Given the description of an element on the screen output the (x, y) to click on. 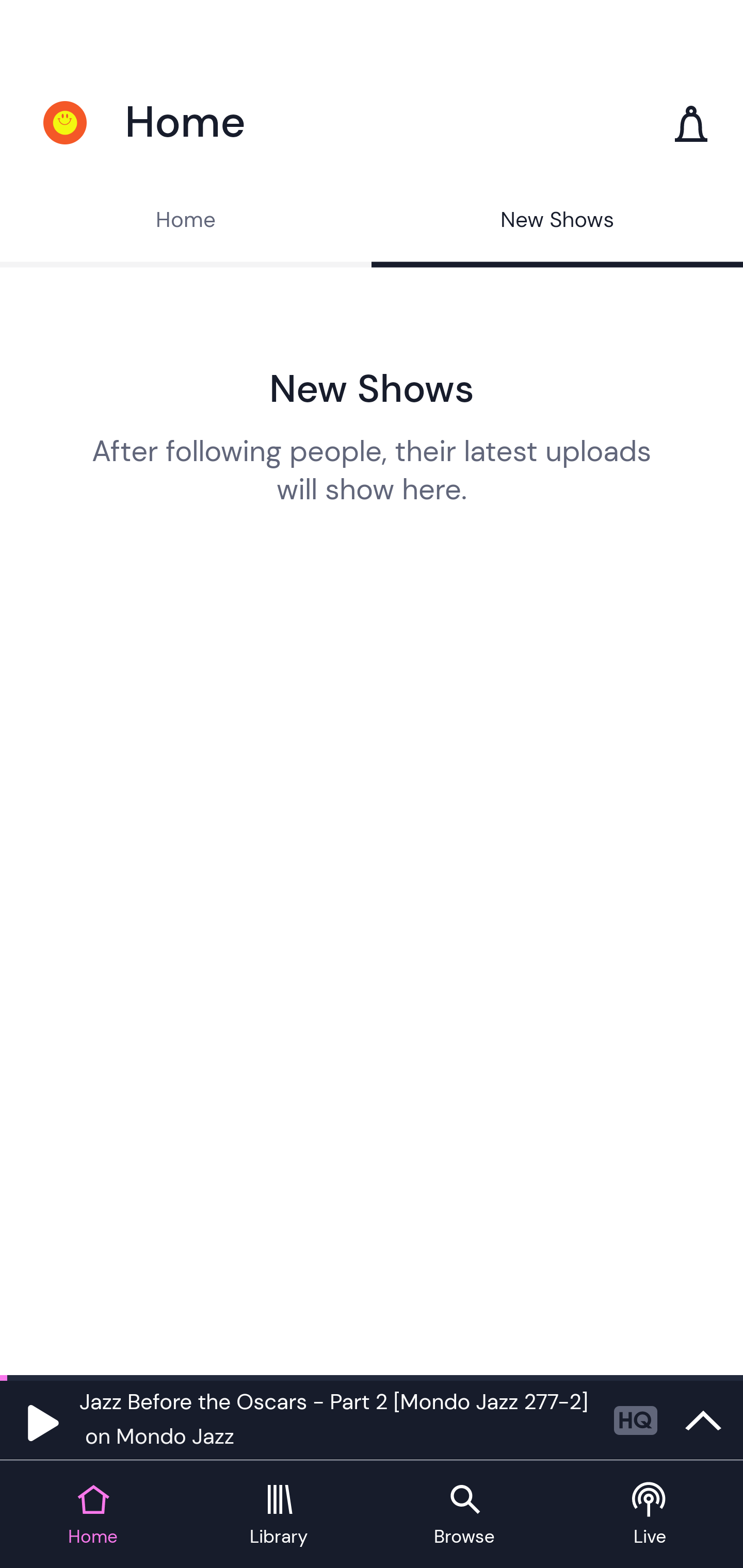
Home (185, 221)
New Shows (557, 221)
Home tab Home (92, 1515)
Library tab Library (278, 1515)
Browse tab Browse (464, 1515)
Live tab Live (650, 1515)
